Given the description of an element on the screen output the (x, y) to click on. 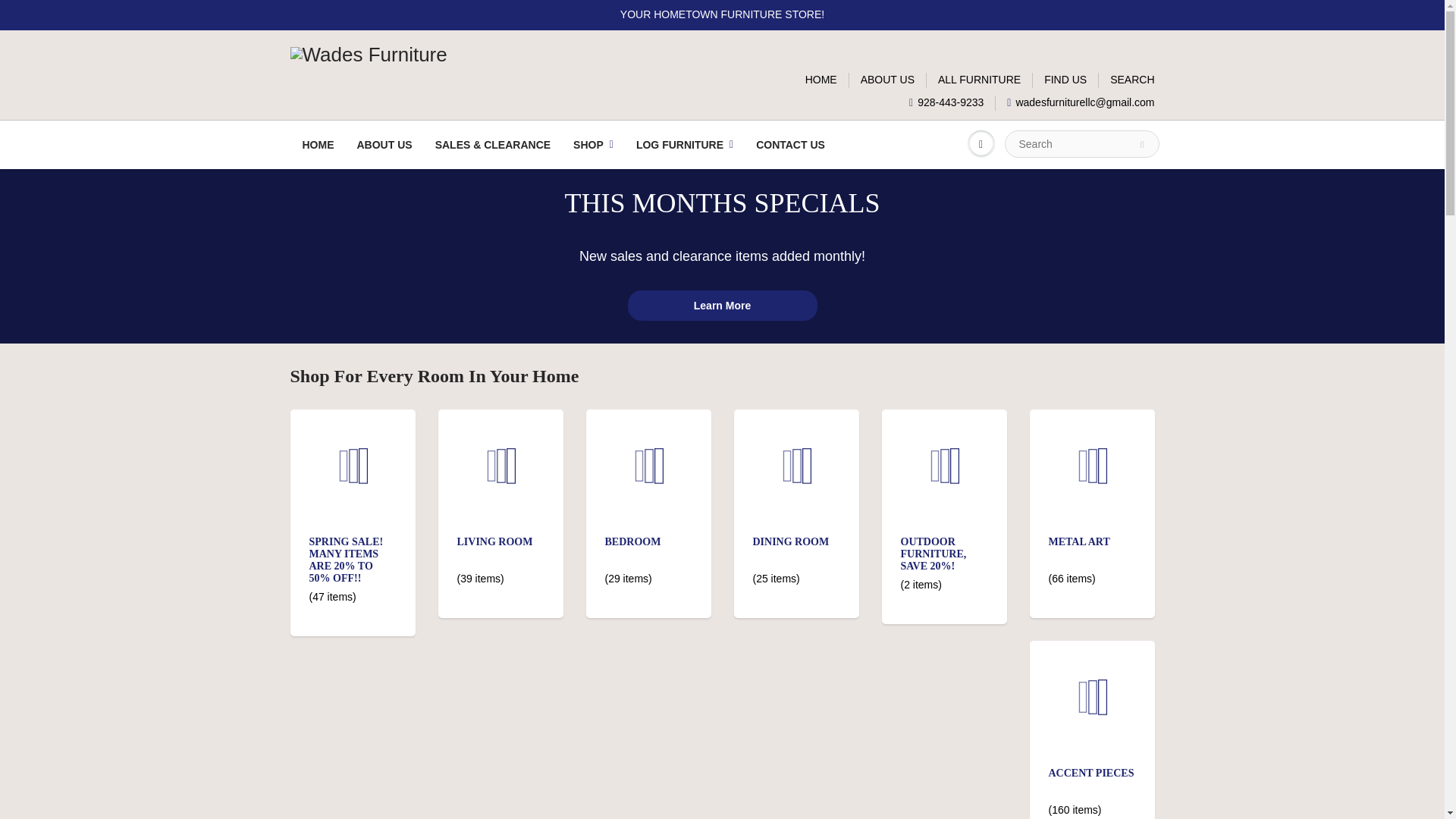
ALL FURNITURE (978, 79)
FIND US (1064, 79)
Browse our BEDROOM collection (633, 541)
928-443-9233 (946, 102)
Browse our METAL ART collection (1078, 541)
HOME (821, 79)
Browse our ACCENT PIECES collection (1092, 651)
Browse our LIVING ROOM collection (494, 541)
Browse our ACCENT PIECES collection (1091, 772)
Browse our DINING ROOM collection (790, 541)
